Given the description of an element on the screen output the (x, y) to click on. 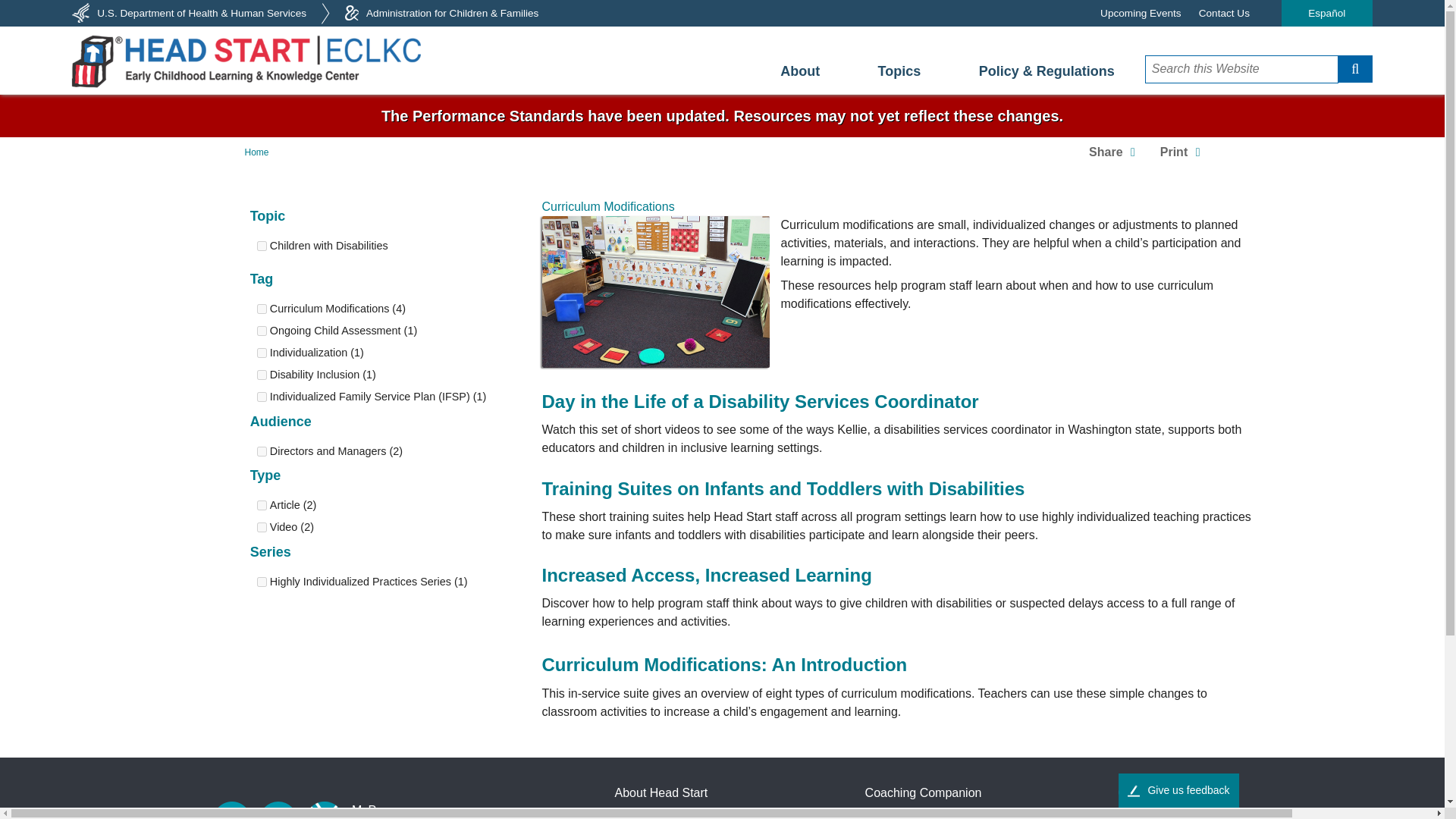
MyPeers (375, 810)
Topics (899, 71)
Skip to main content (721, 98)
on (261, 582)
on (261, 352)
Contact Us (1223, 13)
on (261, 505)
Go to Instagram (278, 810)
on (261, 375)
on (261, 450)
